Given the description of an element on the screen output the (x, y) to click on. 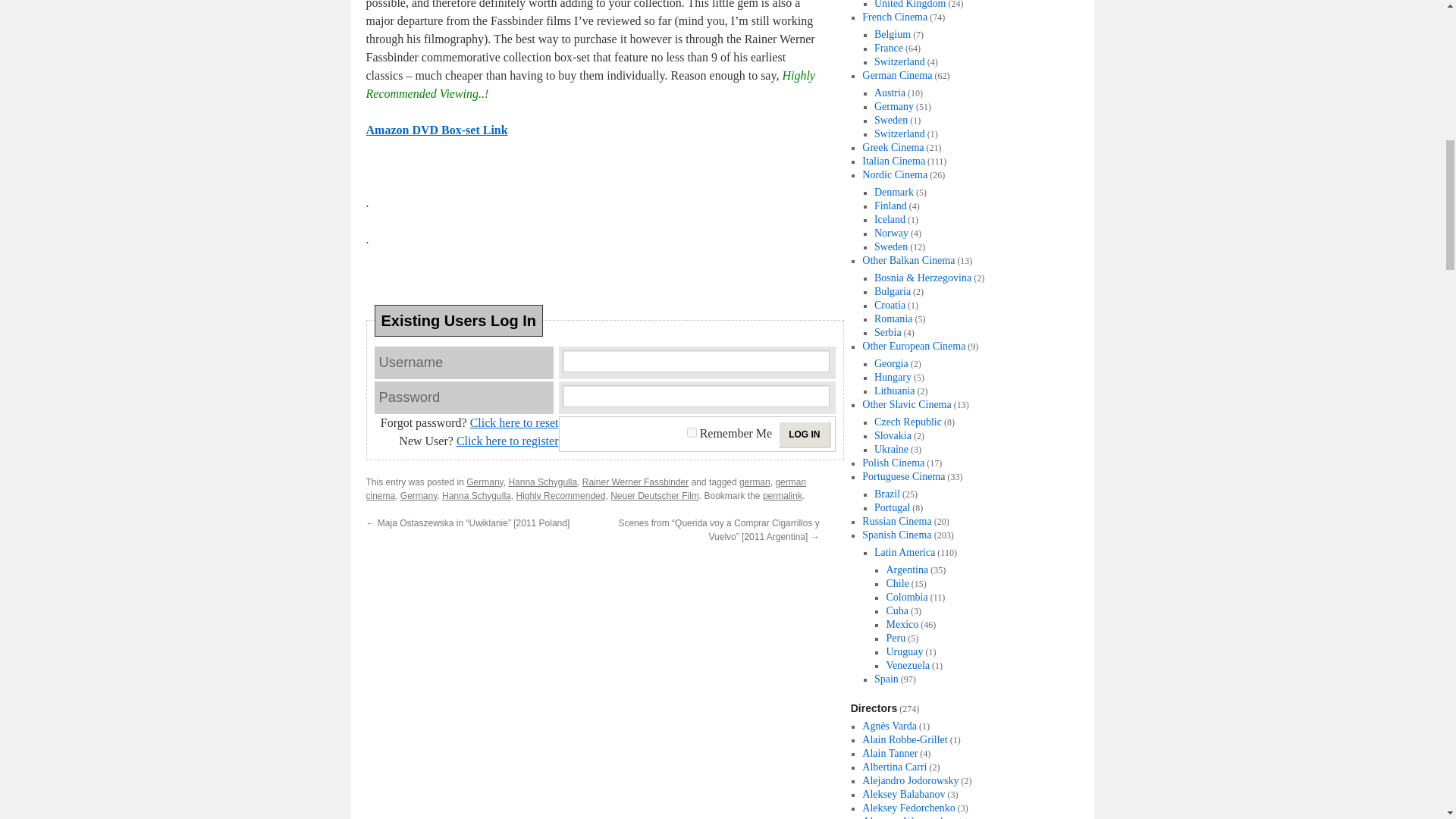
Hanna Schygulla (542, 481)
Hanna Schygulla (476, 495)
Rainer Werner Fassbinder (635, 481)
german (754, 481)
german cinema (585, 488)
Highly Recommended (560, 495)
Click here to register (508, 440)
Click here to reset (514, 422)
Log In (803, 433)
Amazon DVD Box-set Link (435, 129)
